Given the description of an element on the screen output the (x, y) to click on. 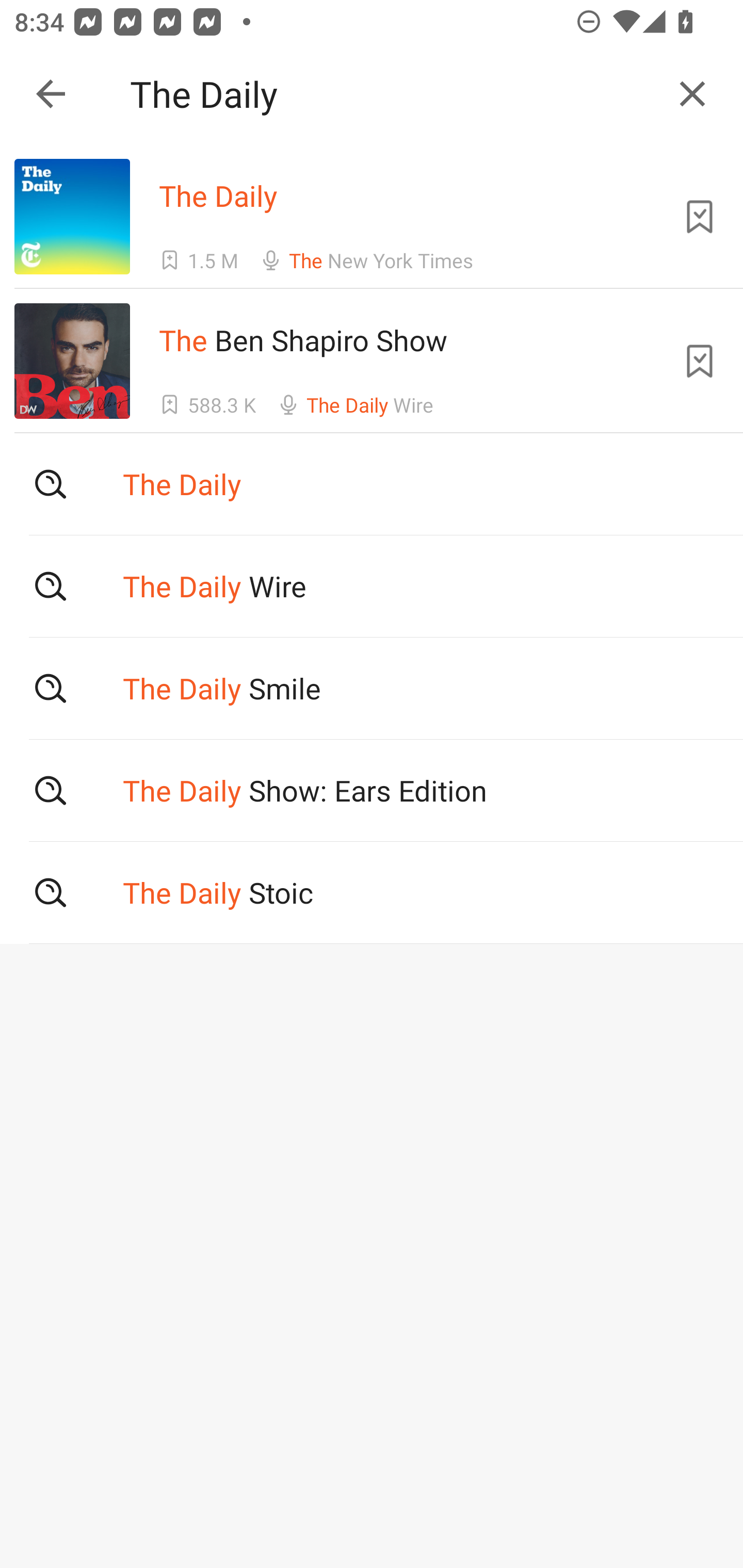
Collapse (50, 93)
Clear query (692, 93)
The Daily (393, 94)
Unsubscribe (699, 216)
Unsubscribe (699, 360)
 The Daily (371, 483)
 The Daily Wire (371, 585)
 The Daily Smile (371, 688)
 The Daily Show: Ears Edition (371, 791)
 The Daily Stoic (371, 892)
